Given the description of an element on the screen output the (x, y) to click on. 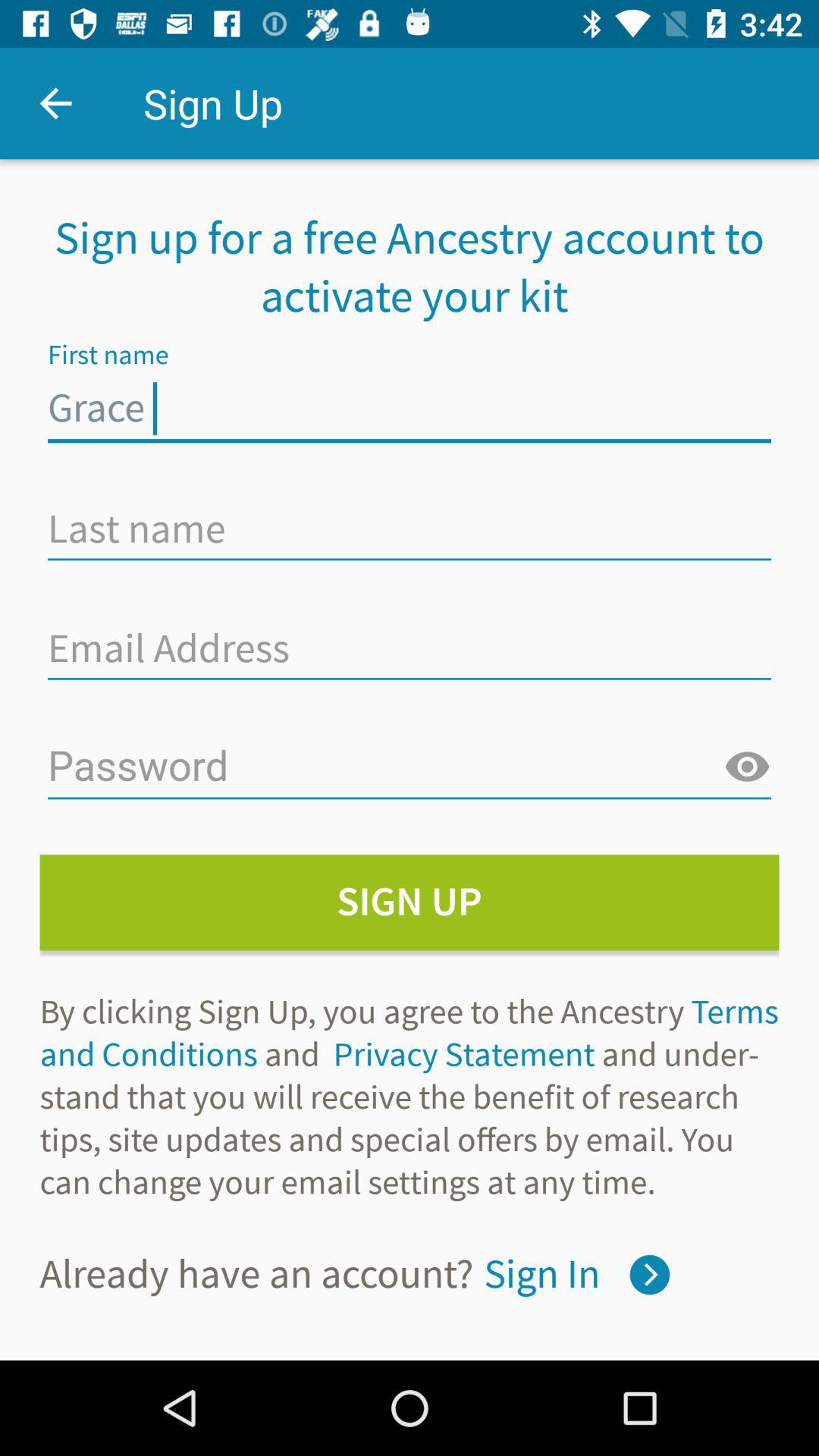
email address (409, 648)
